Given the description of an element on the screen output the (x, y) to click on. 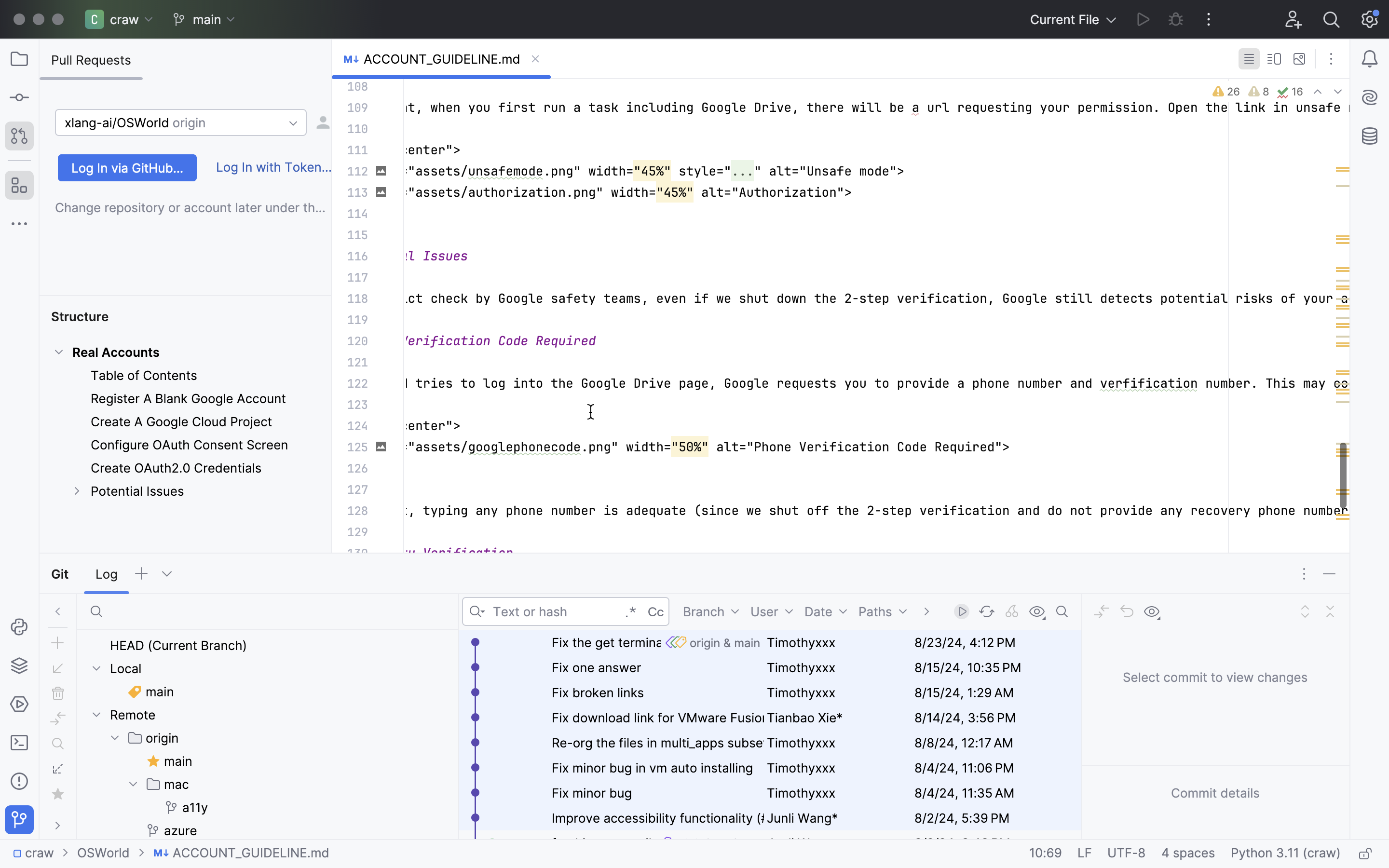
7:21 Element type: AXStaticText (1049, 854)
0 Structure 0 Element type: AXGroup (154, 424)
